Given the description of an element on the screen output the (x, y) to click on. 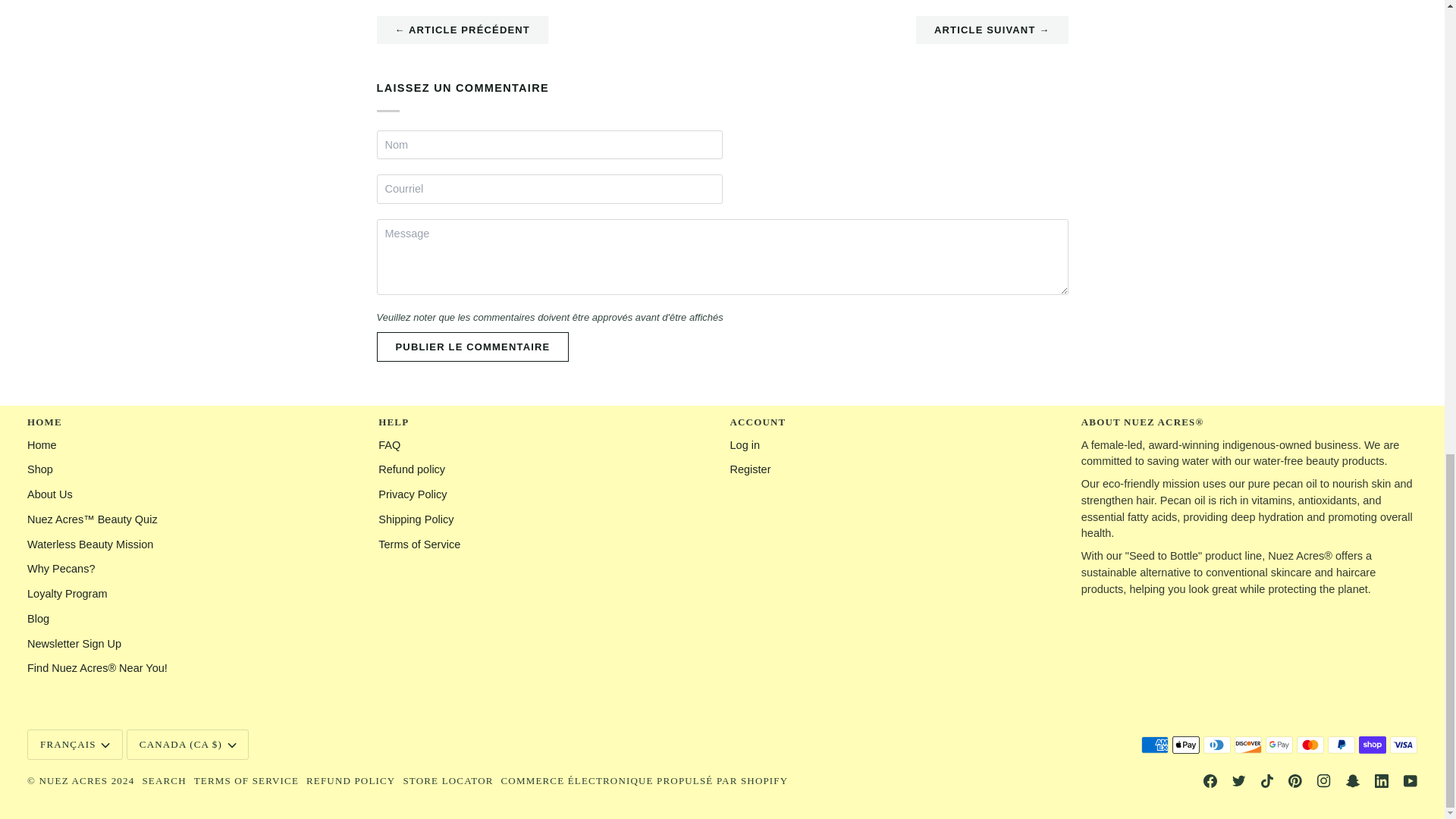
APPLE PAY (1185, 744)
DISCOVER (1248, 744)
Home (41, 444)
DINERS CLUB (1217, 744)
Shop (39, 469)
Snapchat (1352, 780)
AMERICAN EXPRESS (1155, 744)
Twitter (1238, 780)
SHOP PAY (1372, 744)
PAYPAL (1341, 744)
